Given the description of an element on the screen output the (x, y) to click on. 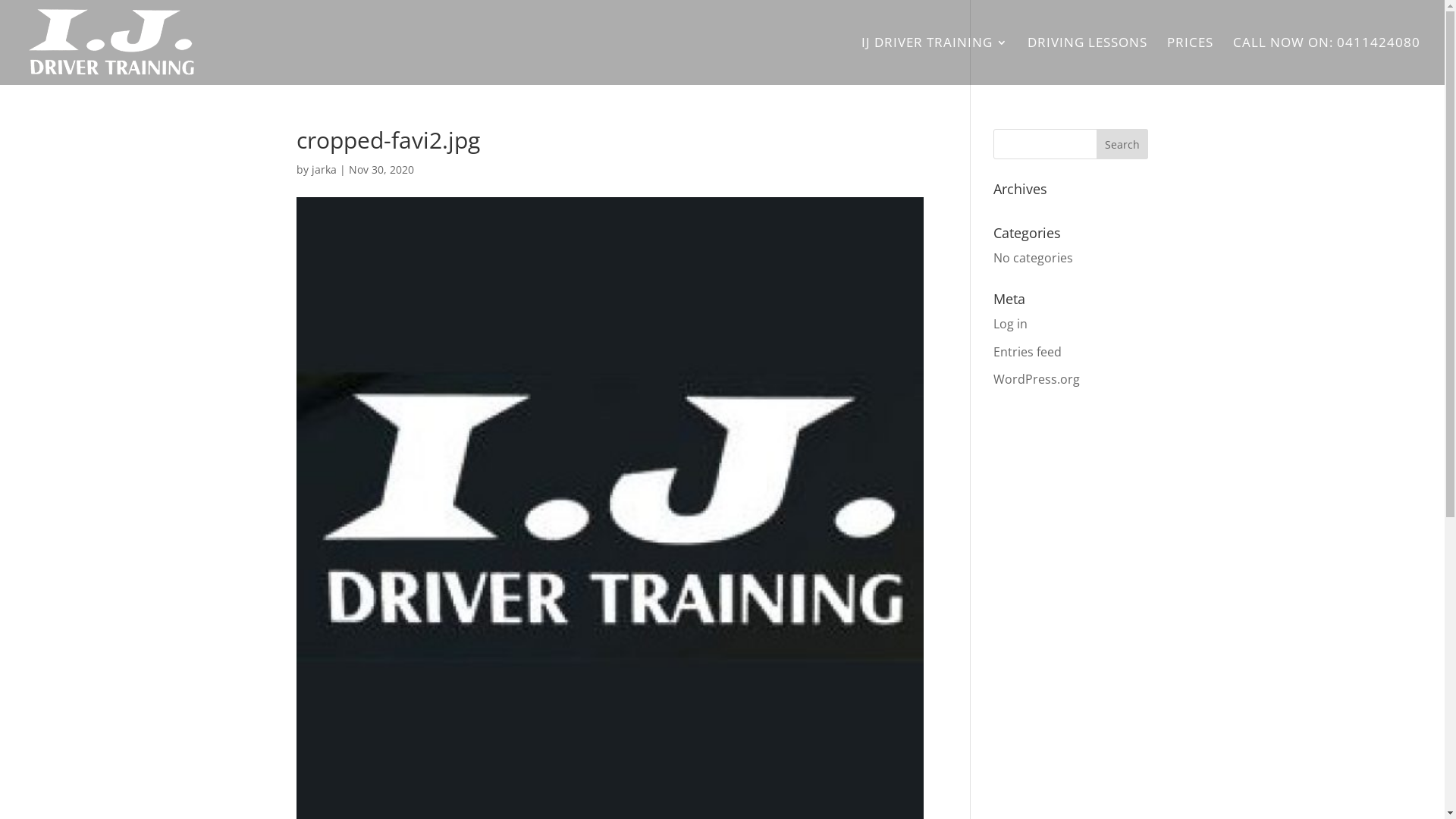
PRICES Element type: text (1190, 60)
CALL NOW ON: 0411424080 Element type: text (1326, 60)
Log in Element type: text (1010, 323)
Entries feed Element type: text (1027, 351)
Search Element type: text (1122, 143)
WordPress.org Element type: text (1036, 378)
jarka Element type: text (323, 169)
DRIVING LESSONS Element type: text (1087, 60)
IJ DRIVER TRAINING Element type: text (934, 60)
